Given the description of an element on the screen output the (x, y) to click on. 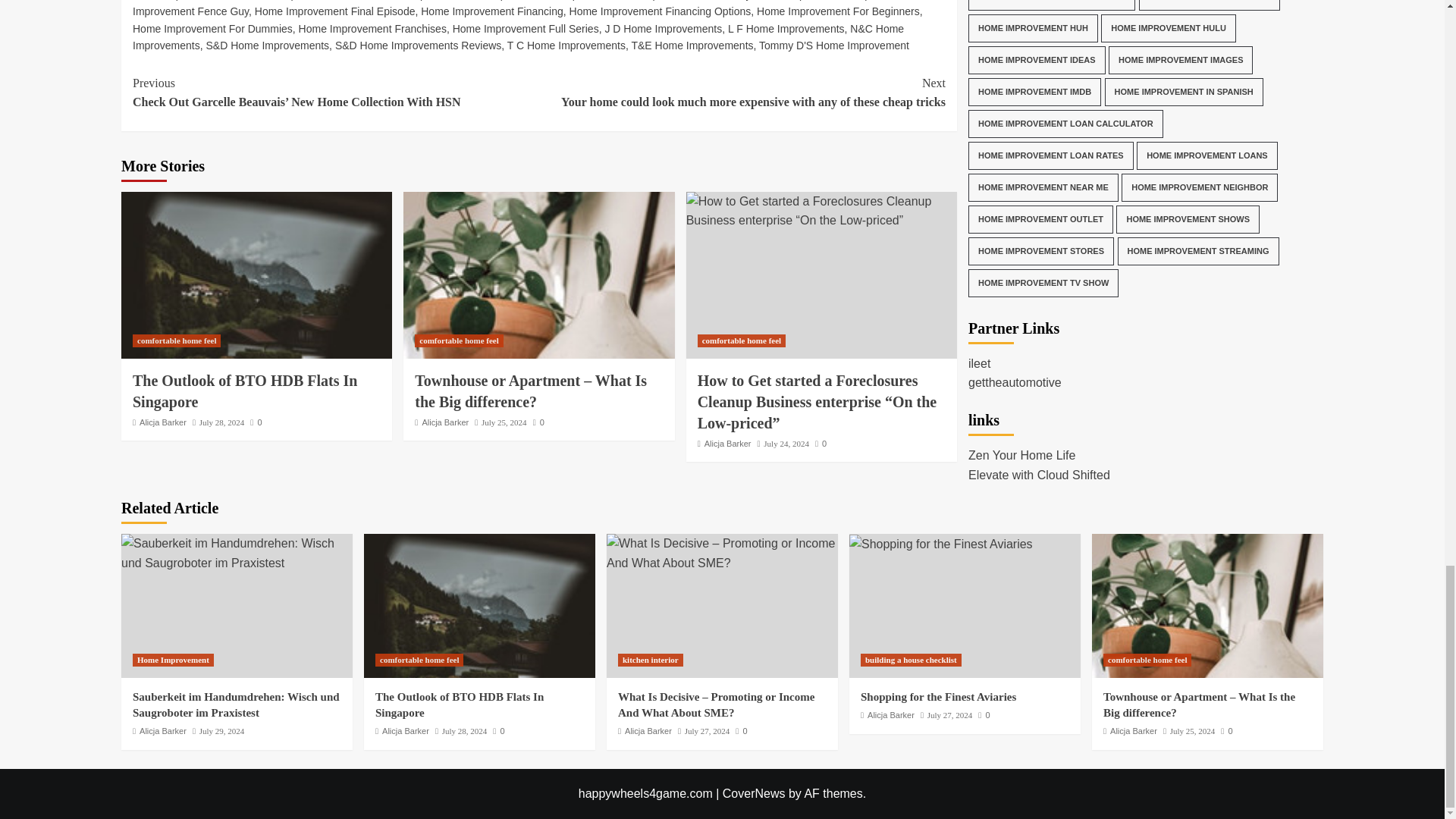
The Outlook of BTO HDB Flats In Singapore (255, 274)
The Outlook of BTO HDB Flats In Singapore (479, 605)
